Given the description of an element on the screen output the (x, y) to click on. 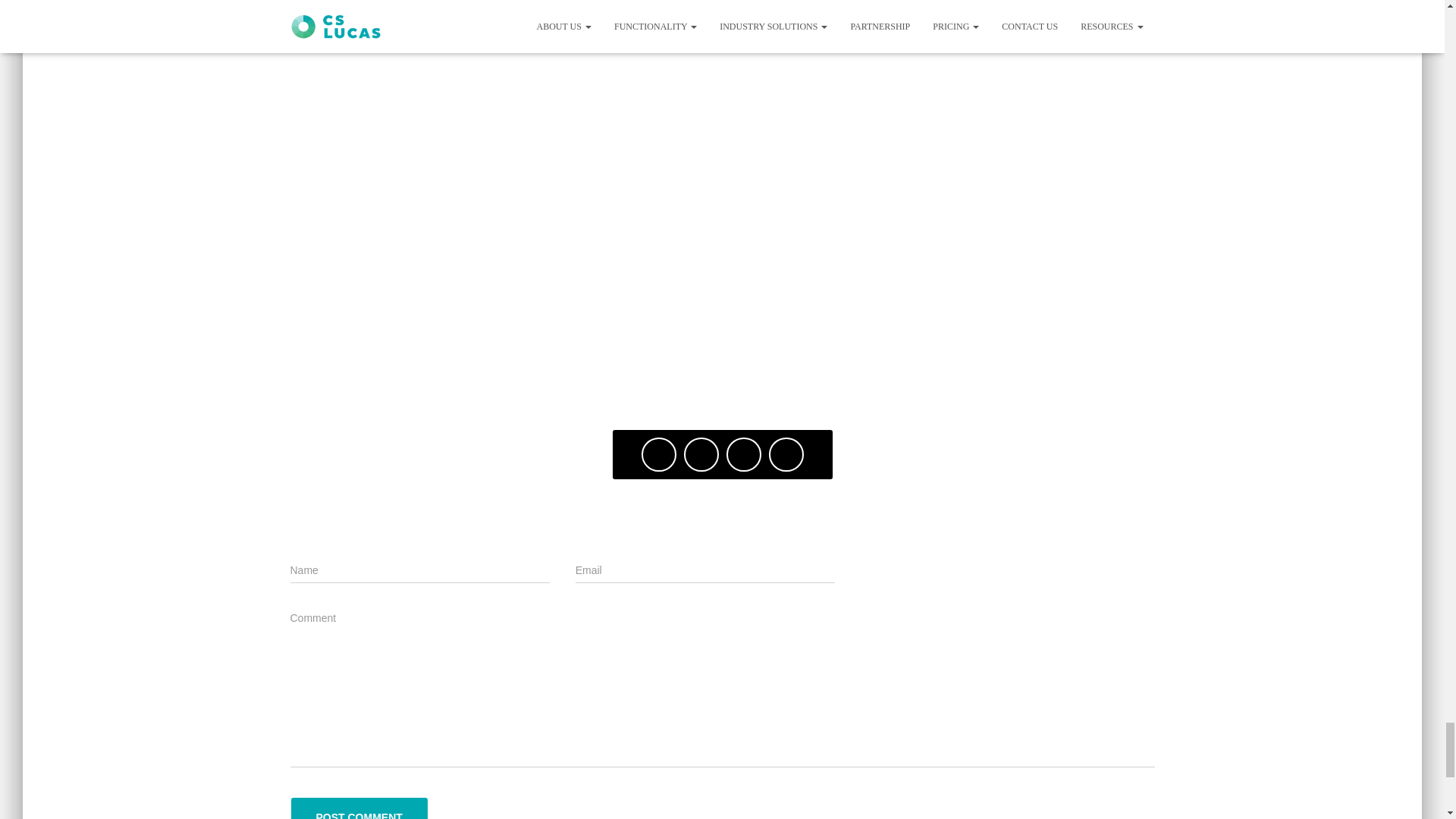
Post Comment (359, 808)
